Given the description of an element on the screen output the (x, y) to click on. 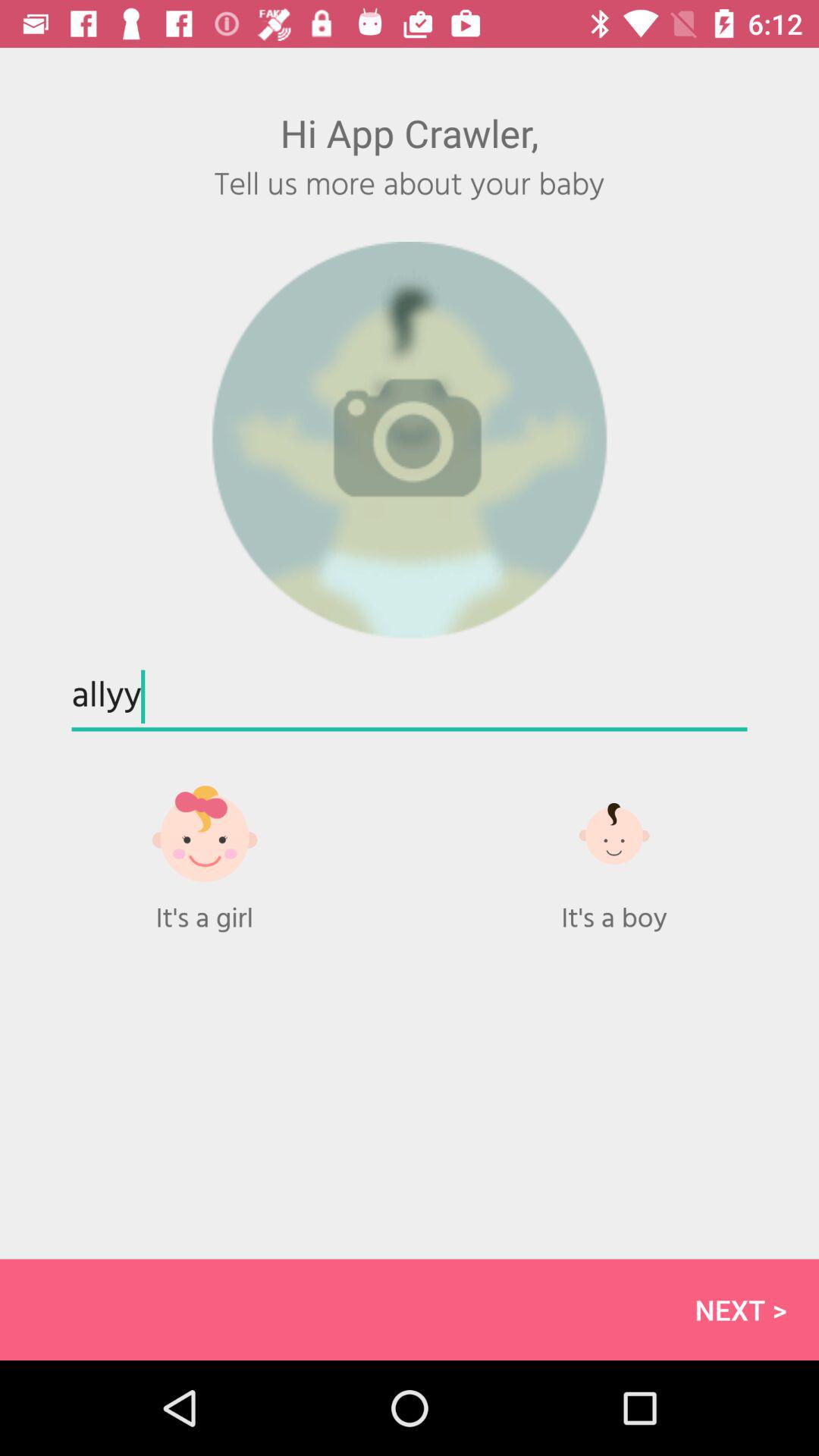
launch allyy item (409, 697)
